Given the description of an element on the screen output the (x, y) to click on. 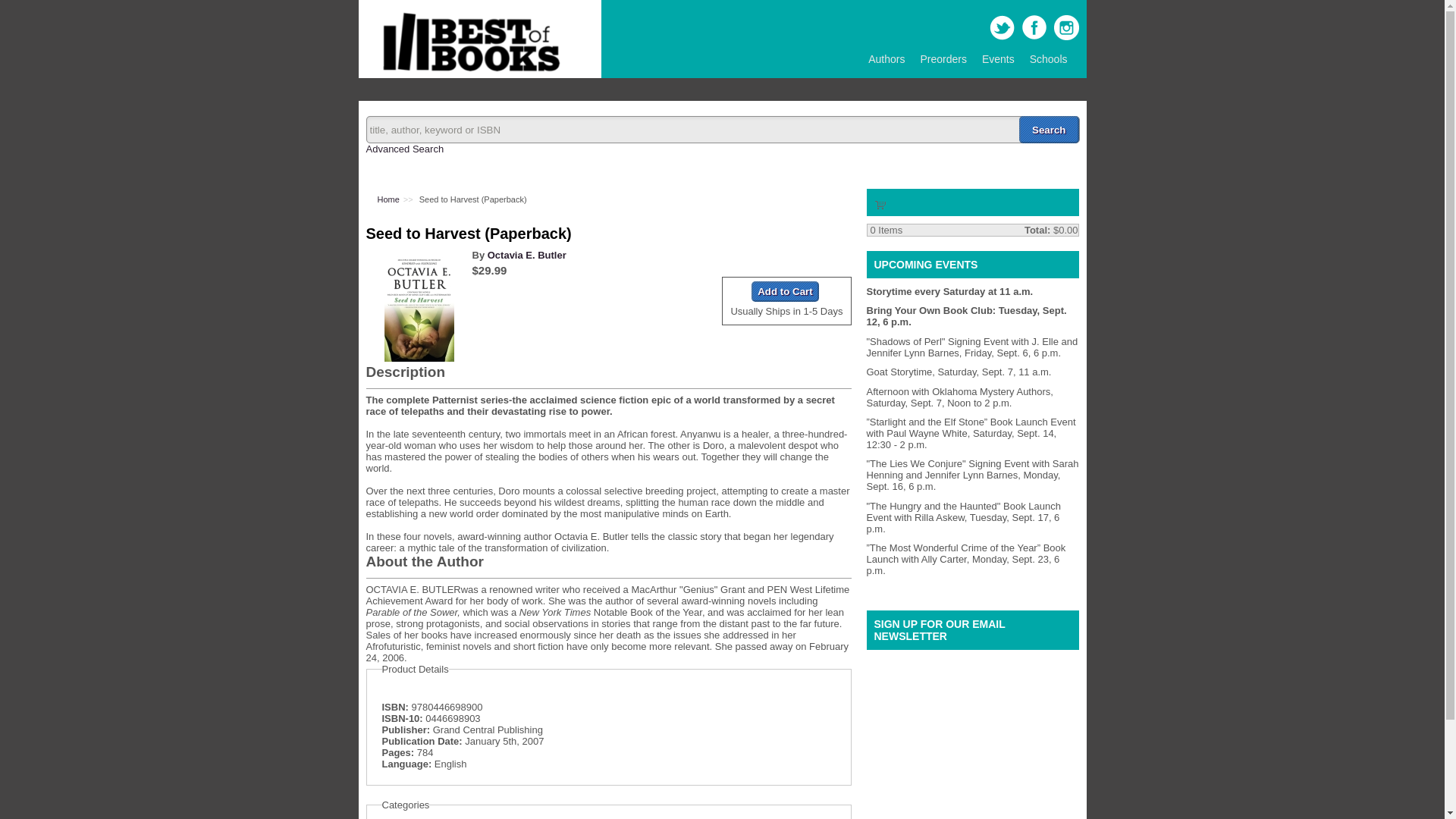
Events (998, 58)
Search (1048, 129)
Enter the terms you wish to search for. (721, 129)
Add to Cart (784, 290)
Events (998, 58)
Home (467, 71)
Schools (1048, 58)
View your shopping cart. (879, 203)
Preorders (943, 58)
Authors (886, 58)
